Given the description of an element on the screen output the (x, y) to click on. 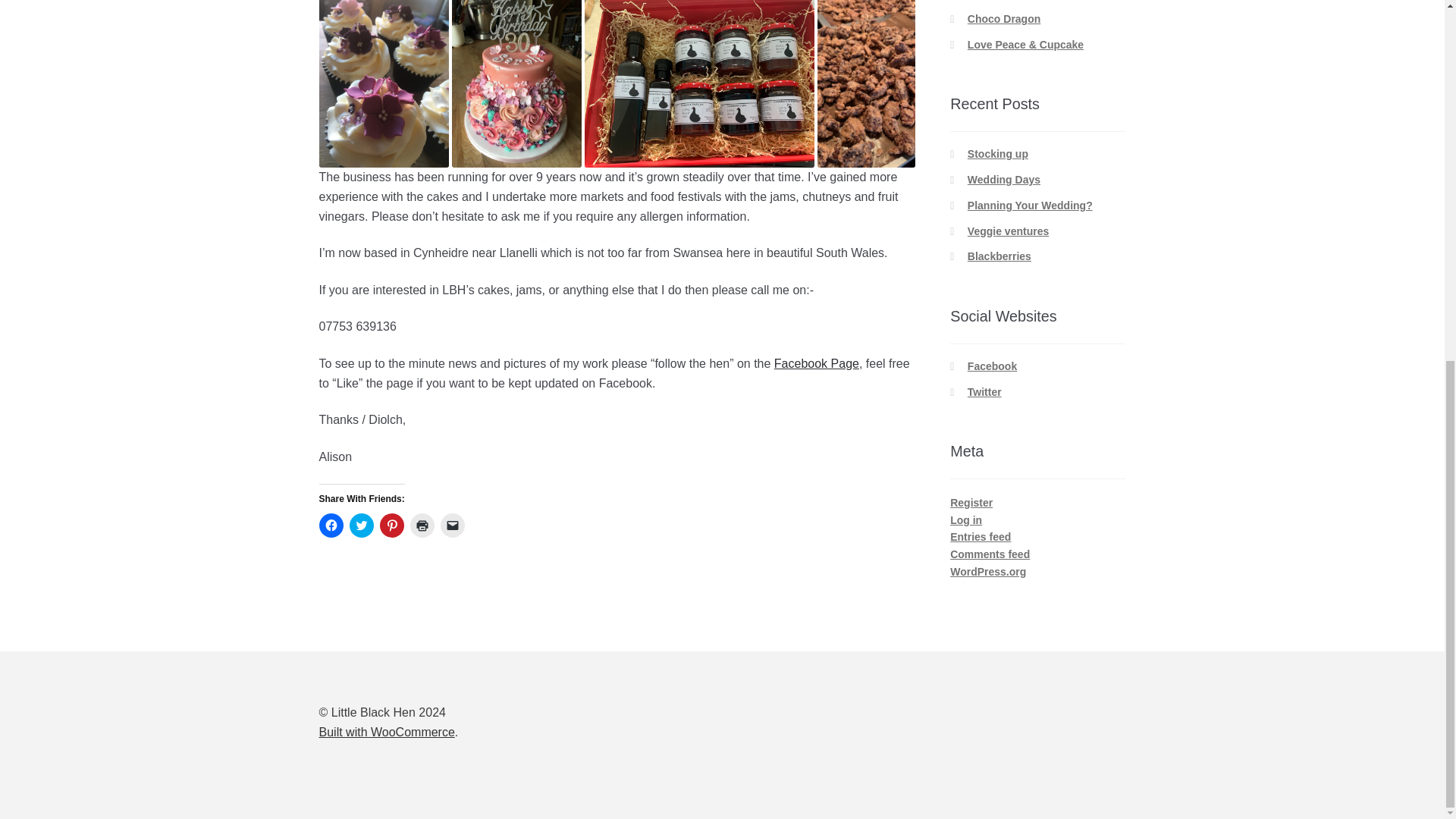
Little Black Hen on Facebook (816, 363)
Click to share on Facebook (330, 525)
Click to share on Twitter (361, 525)
Click to share on Pinterest (392, 525)
Luxuary Chocolatein Wales (1004, 19)
Click to email a link to a friend (452, 525)
WooCommerce - The Best eCommerce Platform for WordPress (386, 731)
Click to print (421, 525)
